Given the description of an element on the screen output the (x, y) to click on. 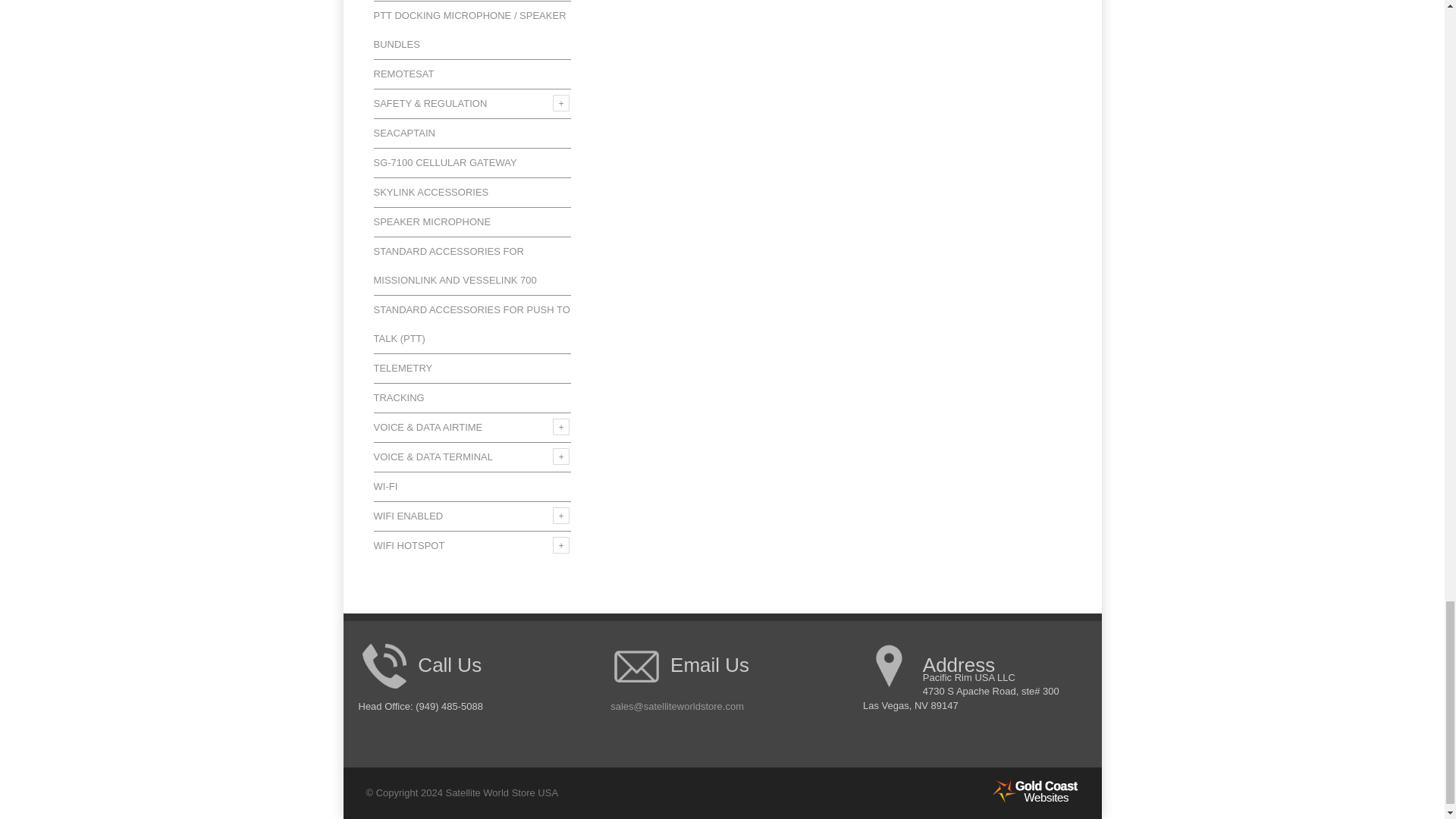
Web Design (1034, 799)
